Given the description of an element on the screen output the (x, y) to click on. 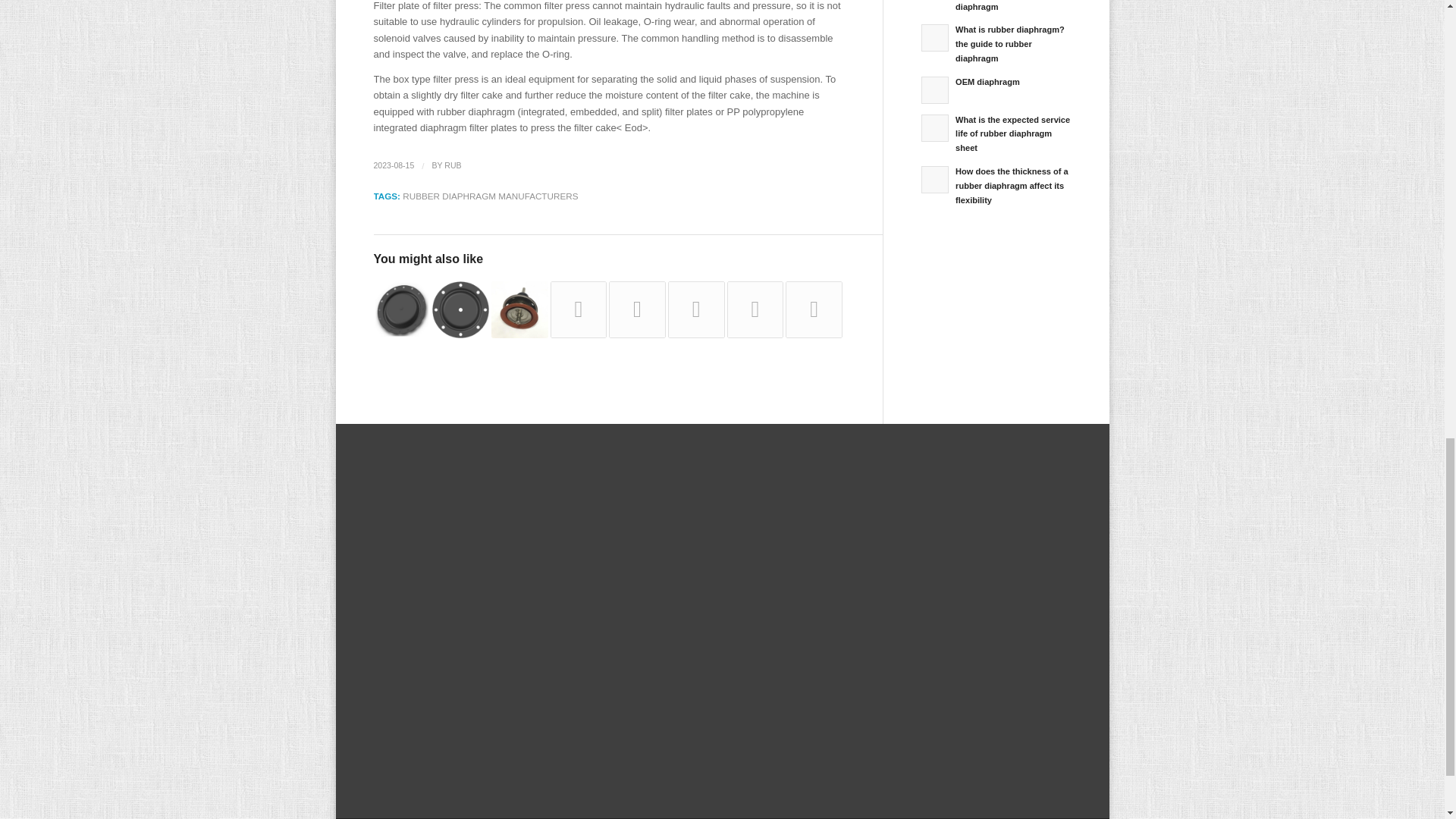
Posts by rub (452, 164)
Rubber diaphragm for Pneumatic Regulator Actuator (400, 309)
